Given the description of an element on the screen output the (x, y) to click on. 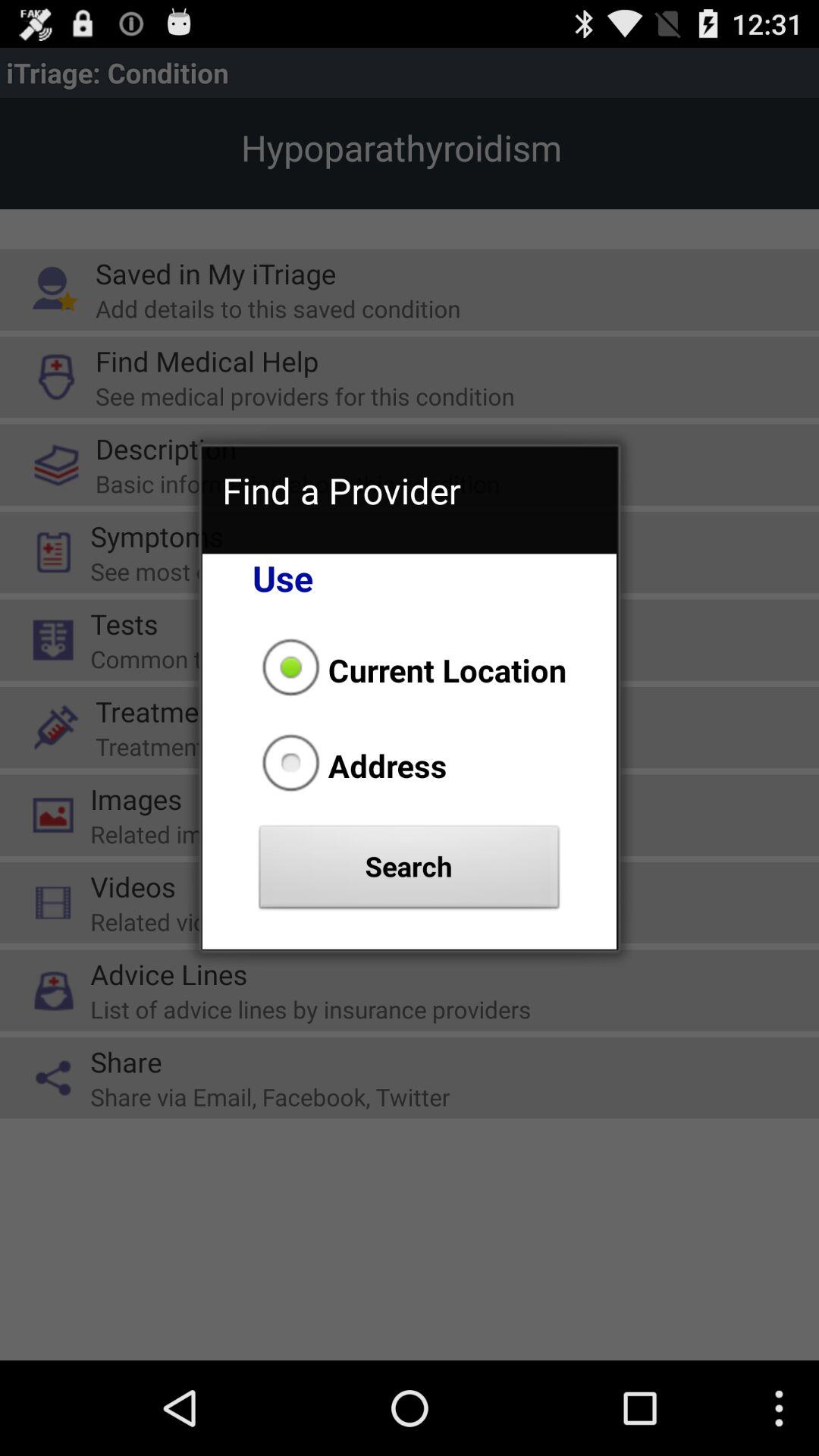
tap radio button below address radio button (409, 871)
